Given the description of an element on the screen output the (x, y) to click on. 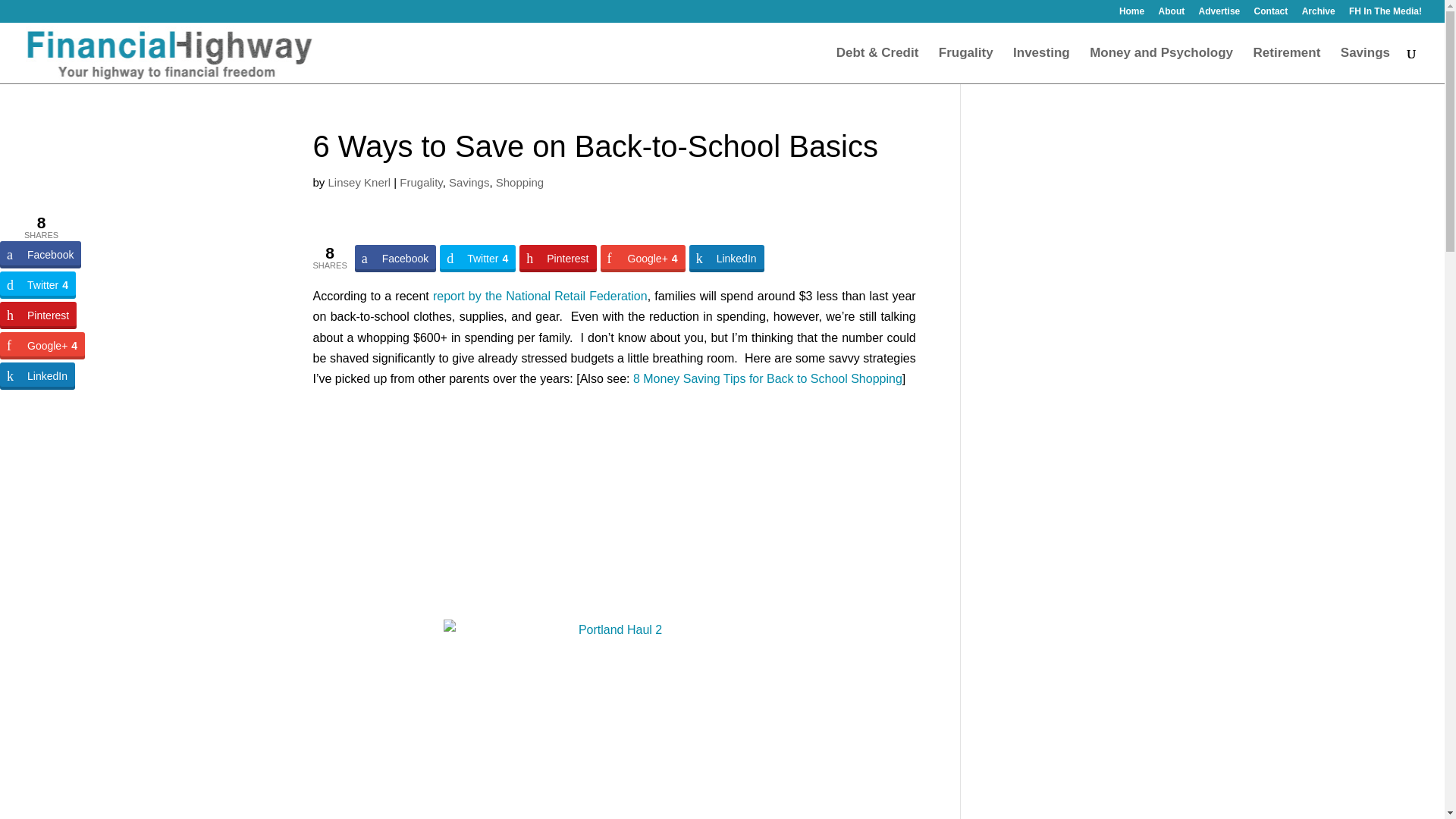
Pinterest (557, 257)
Archive (1318, 14)
Facebook (40, 254)
Frugality (965, 65)
Shopping (519, 182)
Advertise (1219, 14)
Savings (468, 182)
Home (1131, 14)
LinkedIn (726, 257)
Linsey Knerl (360, 182)
Retirement (1286, 65)
Investing (1041, 65)
Money and Psychology (1161, 65)
FH In The Media! (1385, 14)
